Given the description of an element on the screen output the (x, y) to click on. 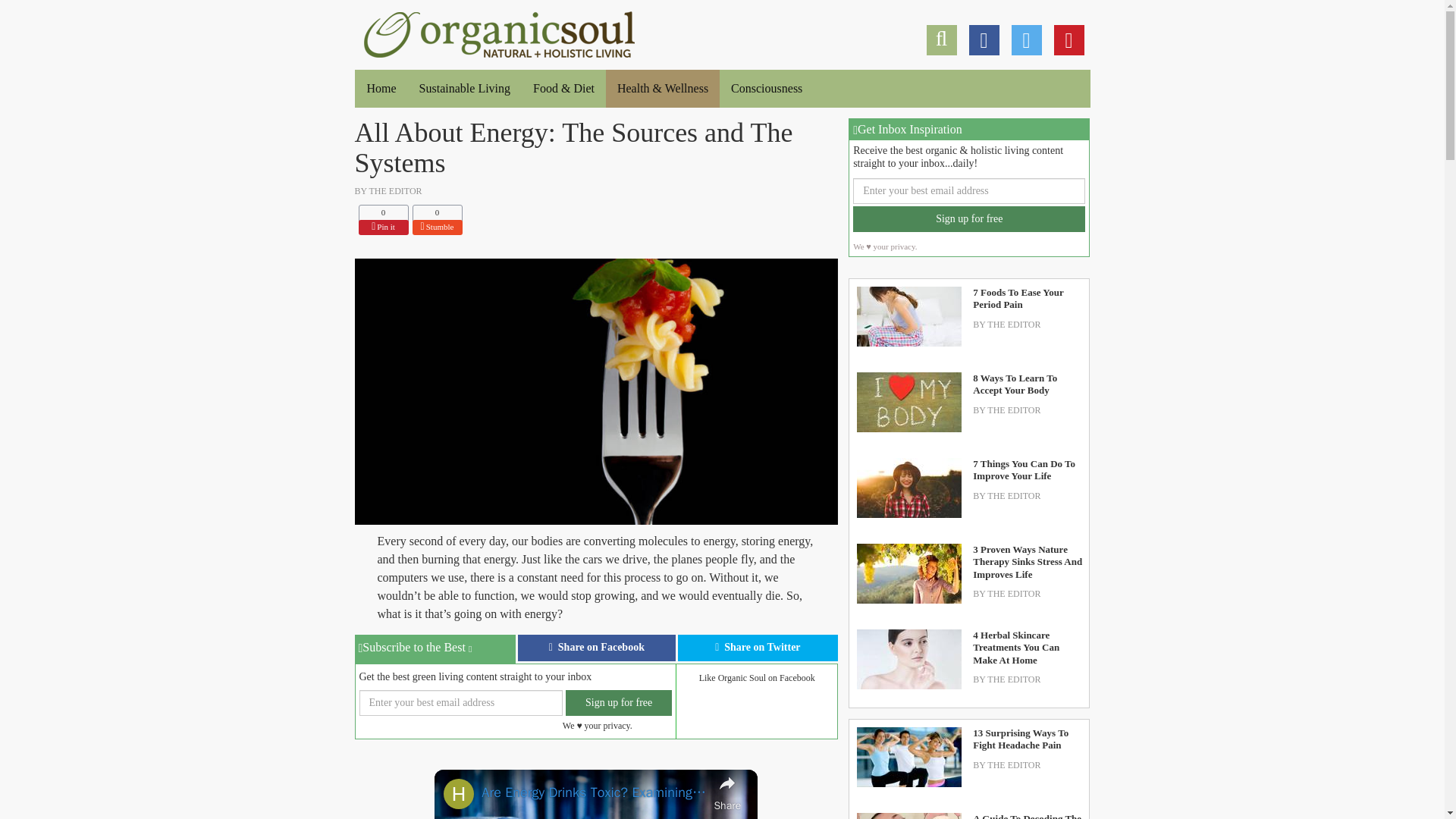
Subscribe to the Best (435, 648)
Consciousness (766, 88)
Sustainable Living (464, 88)
  Share on Twitter (758, 647)
  Share on Facebook (382, 227)
Home (596, 647)
Organic Soul (381, 88)
Sign up for free (499, 32)
Sign up for free (437, 227)
